Given the description of an element on the screen output the (x, y) to click on. 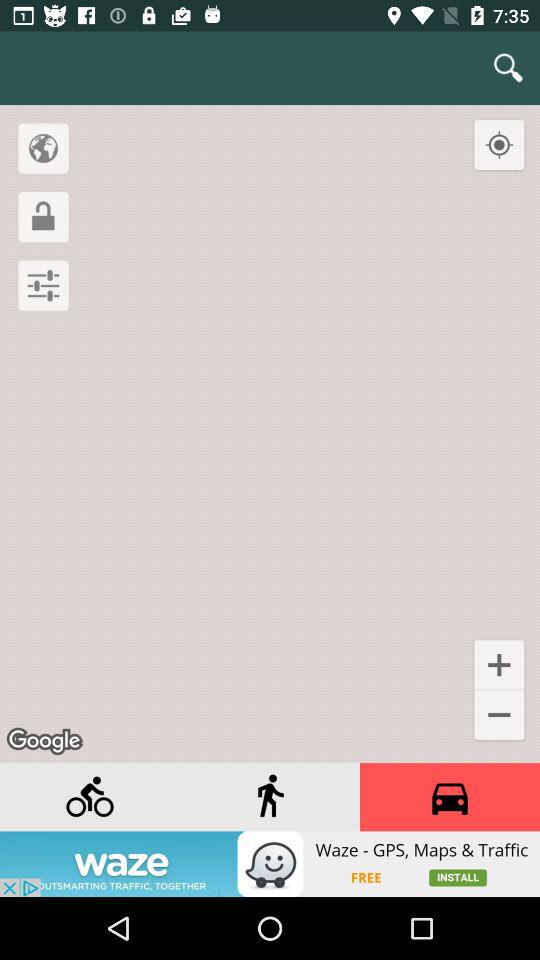
select directions by vehicle (450, 797)
